Given the description of an element on the screen output the (x, y) to click on. 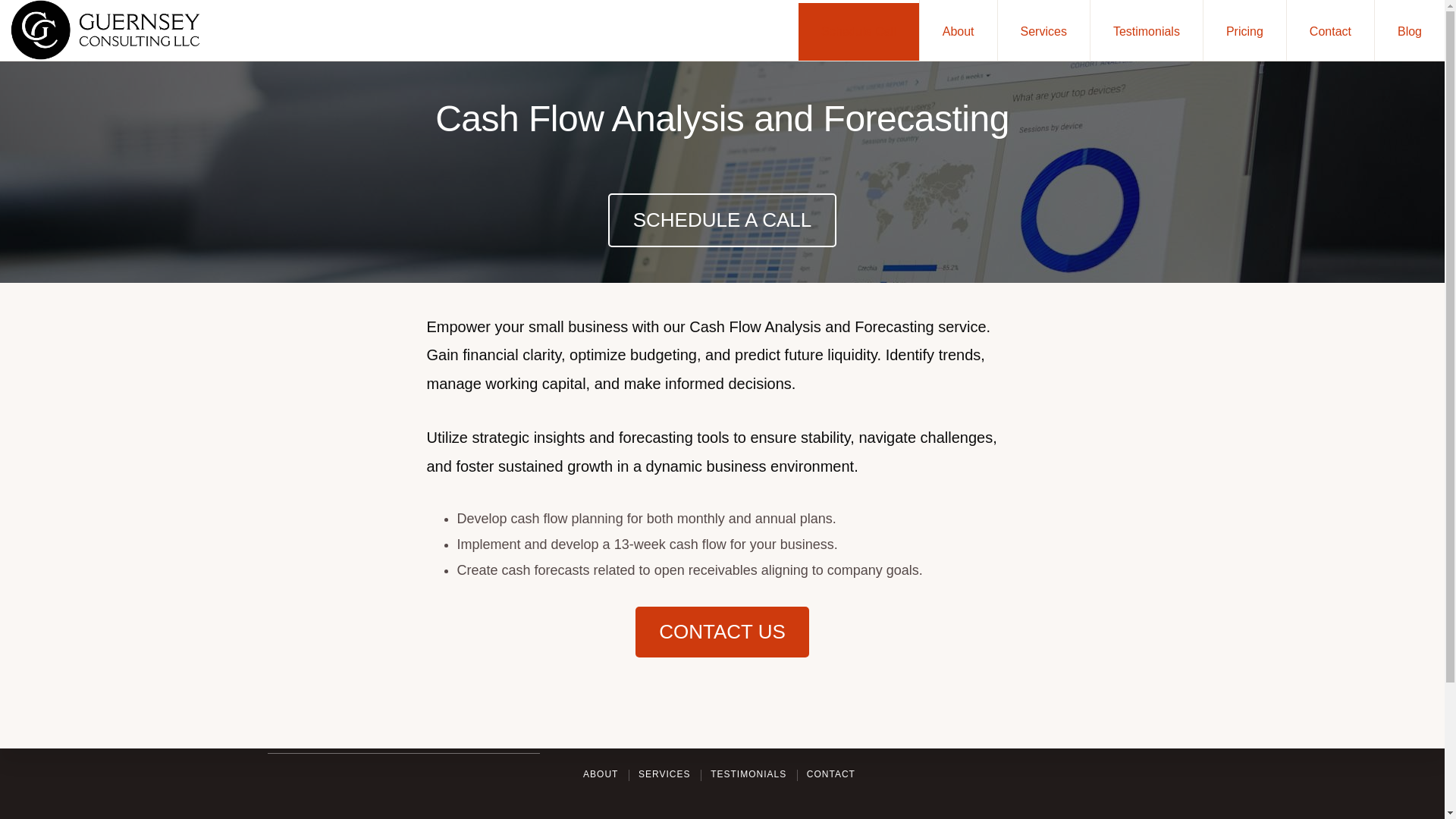
SERVICES (664, 775)
About (958, 30)
Contact (1330, 30)
Blog (1409, 30)
Schedule Call (857, 30)
TESTIMONIALS (748, 775)
Pricing (1244, 30)
Services (1043, 30)
Testimonials (1146, 30)
SCHEDULE A CALL (722, 220)
ABOUT (600, 775)
Louisville Web Nerds (461, 733)
CONTACT US (721, 631)
CONTACT (831, 775)
